Given the description of an element on the screen output the (x, y) to click on. 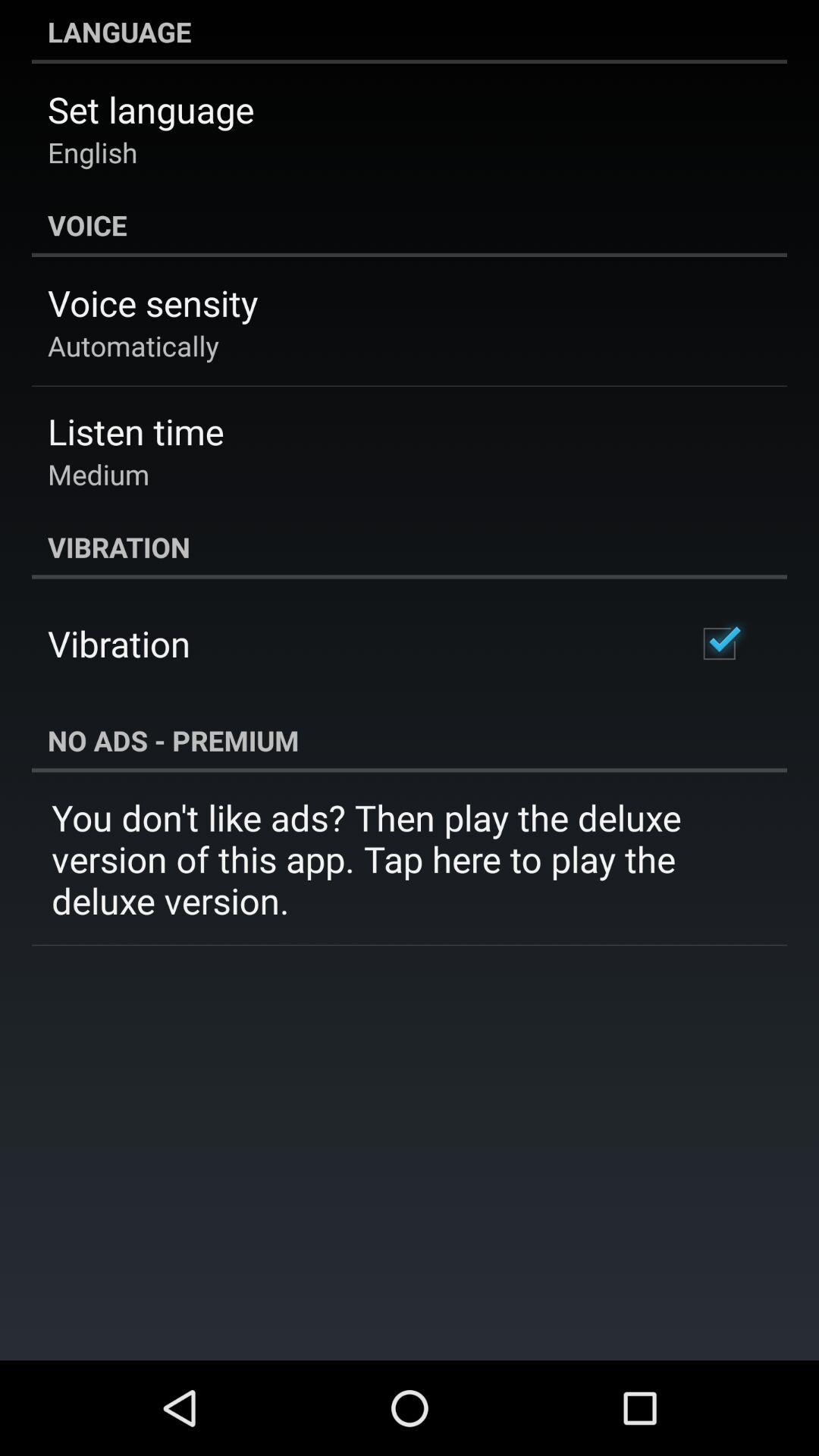
choose icon above vibration app (98, 474)
